Given the description of an element on the screen output the (x, y) to click on. 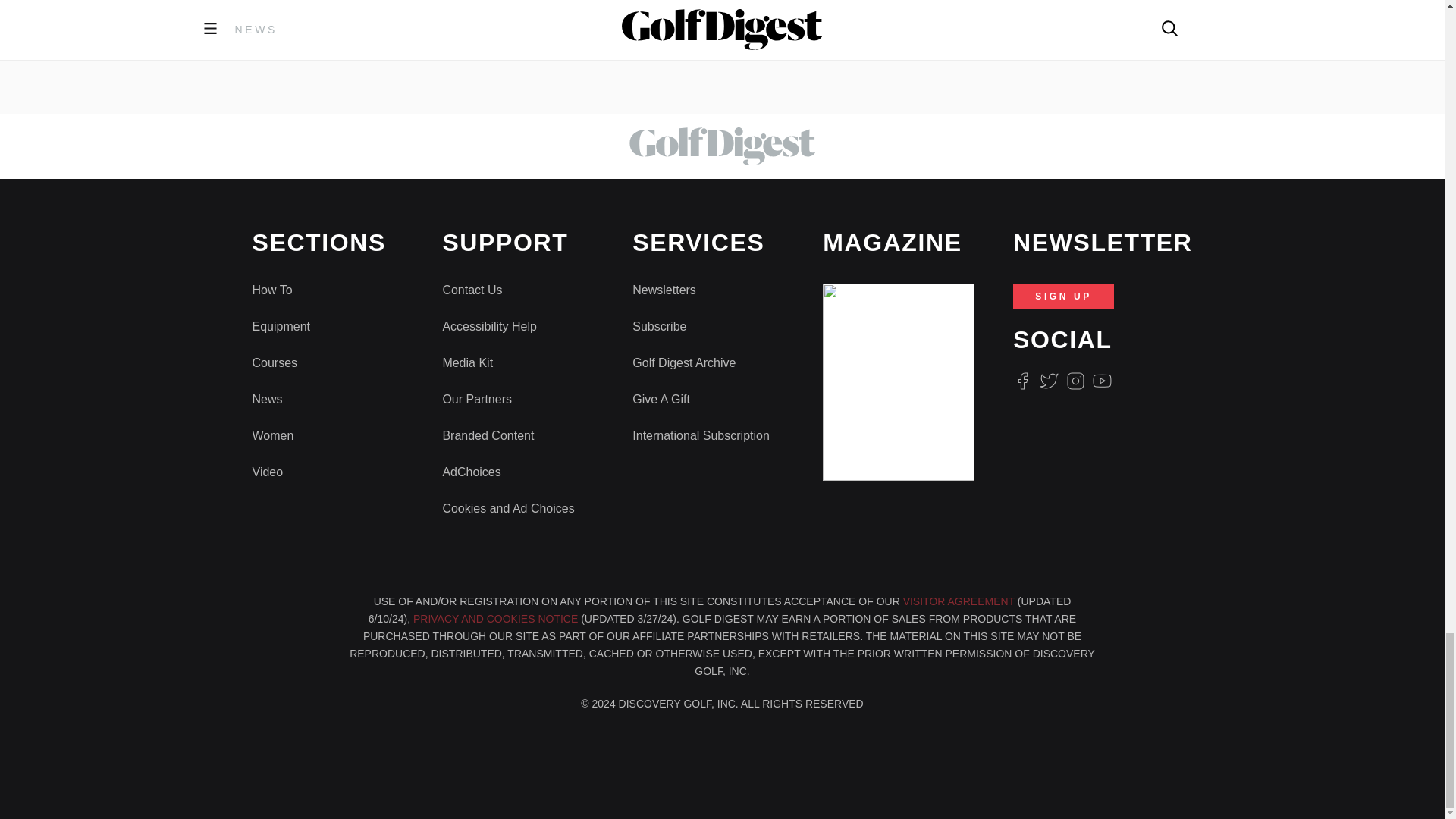
Instagram Logo (1074, 380)
Facebook Logo (1022, 380)
Twitter Logo (1048, 380)
Youtube Icon (1102, 380)
